Given the description of an element on the screen output the (x, y) to click on. 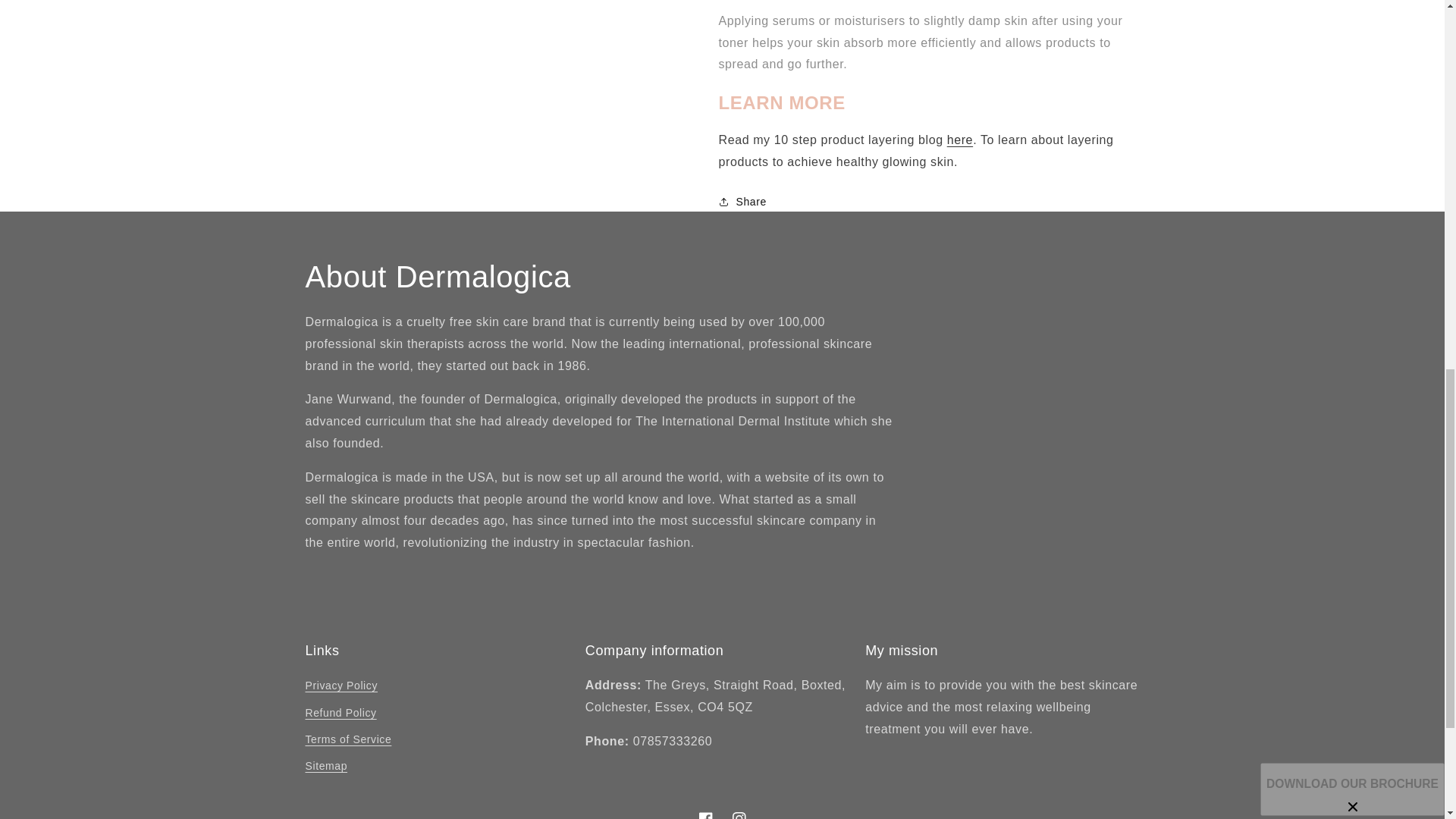
10 steps to healthy skin blog (959, 128)
